Given the description of an element on the screen output the (x, y) to click on. 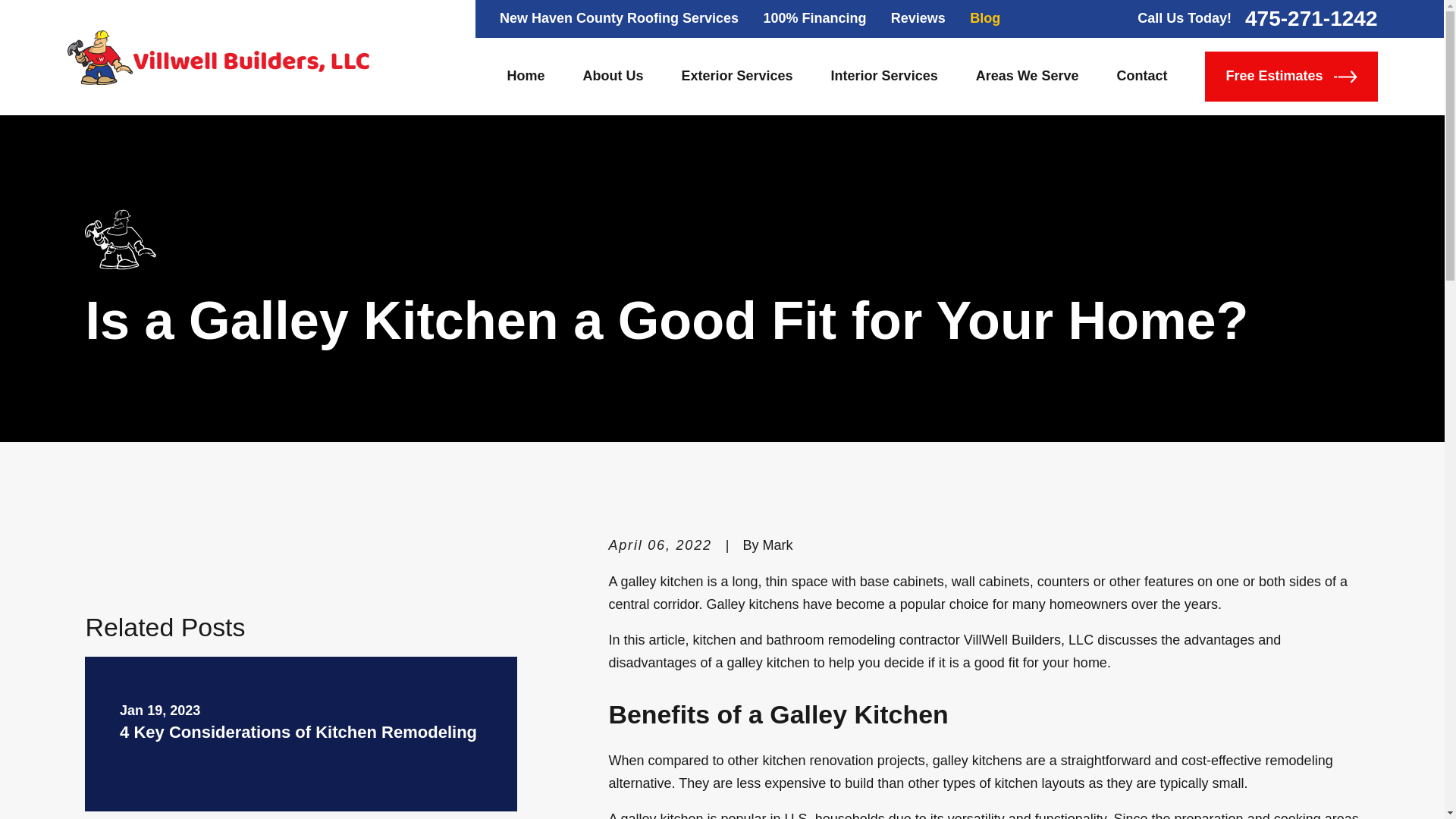
Areas We Serve (1026, 75)
New Haven County Roofing Services (618, 17)
Home (217, 57)
Interior Services (884, 75)
Home (525, 75)
Exterior Services (736, 75)
475-271-1242 (1310, 18)
Reviews (917, 17)
Blog (984, 17)
About Us (612, 75)
